Given the description of an element on the screen output the (x, y) to click on. 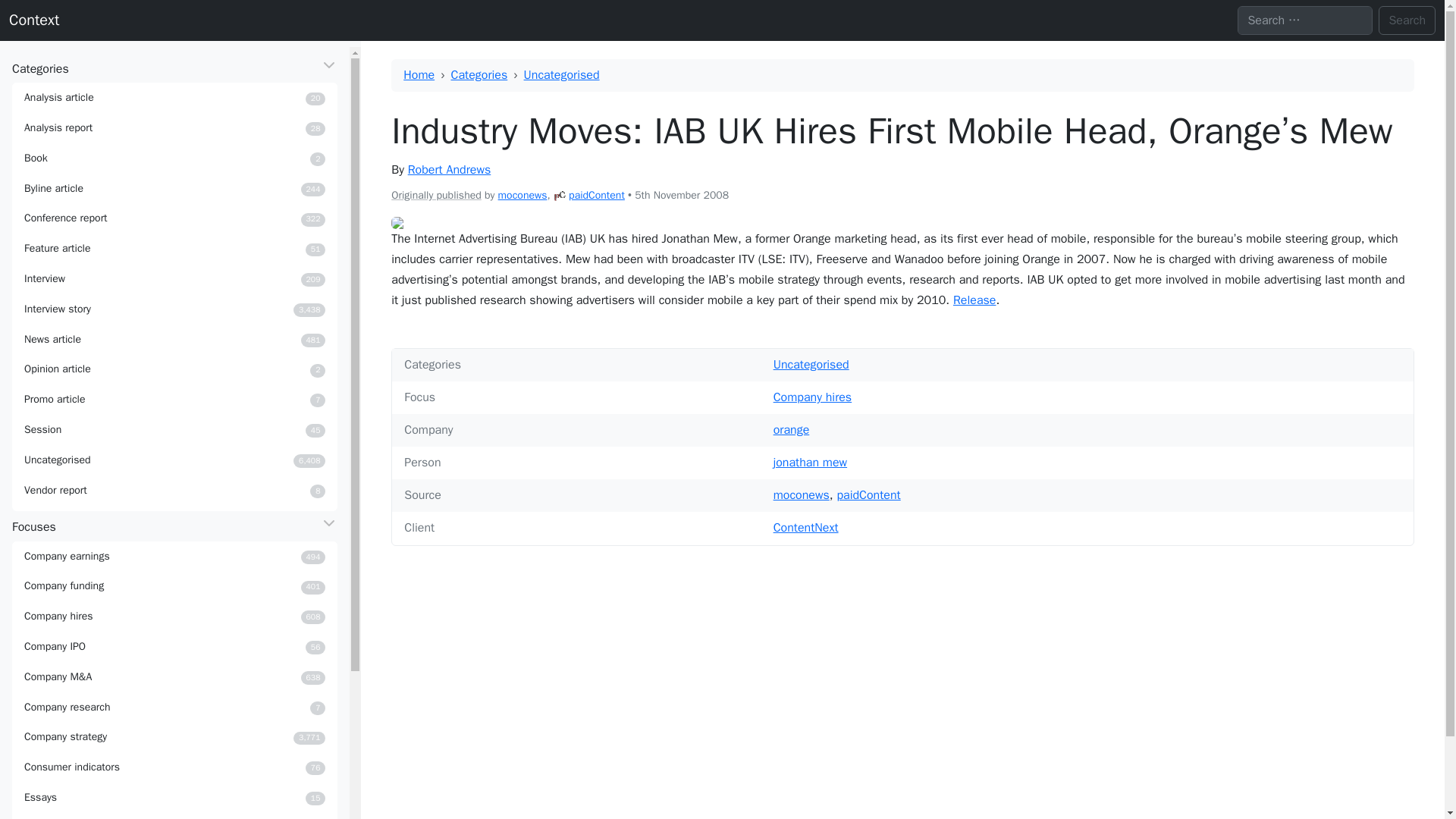
Context (174, 646)
Categories (174, 429)
